Given the description of an element on the screen output the (x, y) to click on. 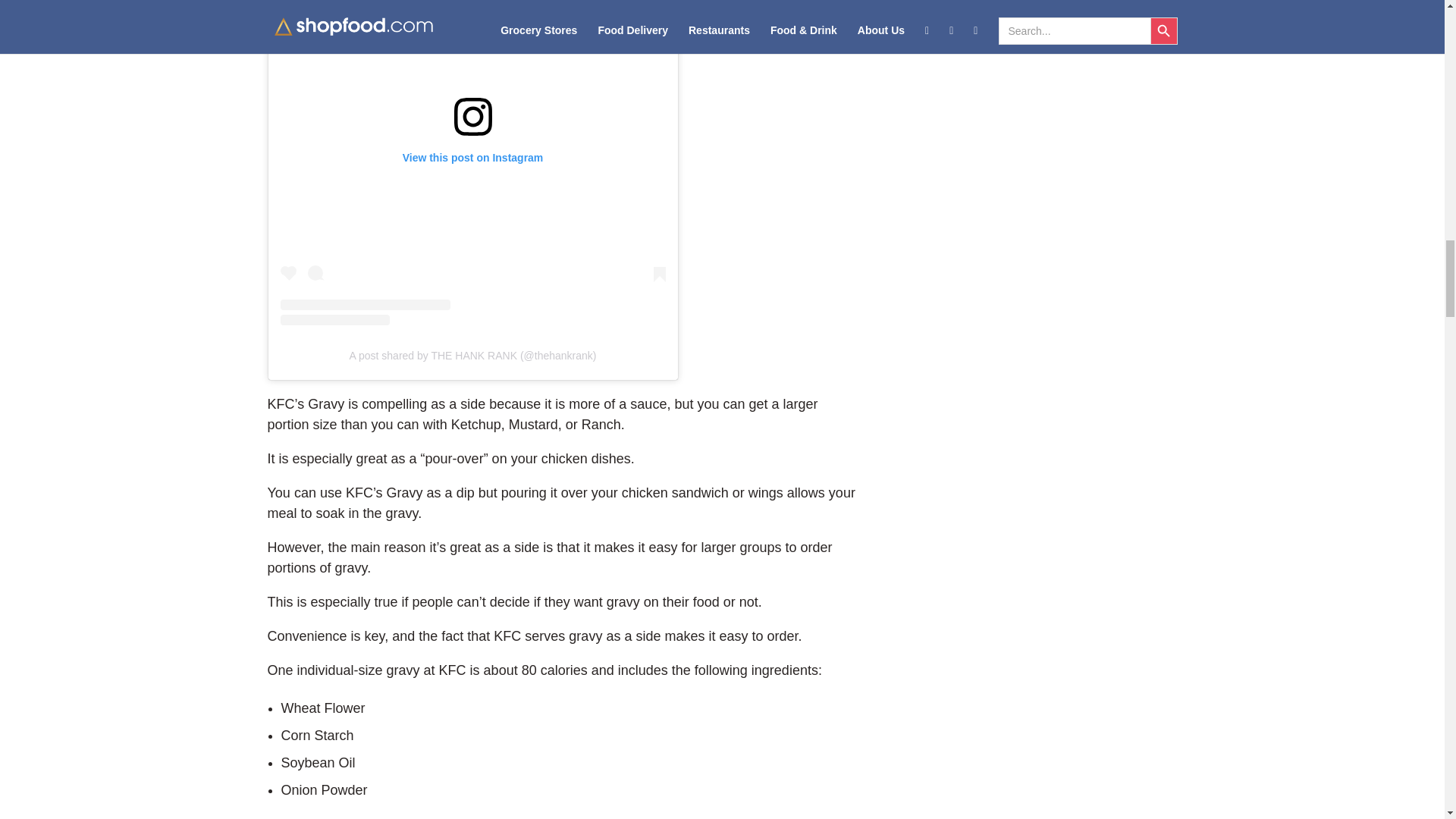
View this post on Instagram (473, 162)
